Given the description of an element on the screen output the (x, y) to click on. 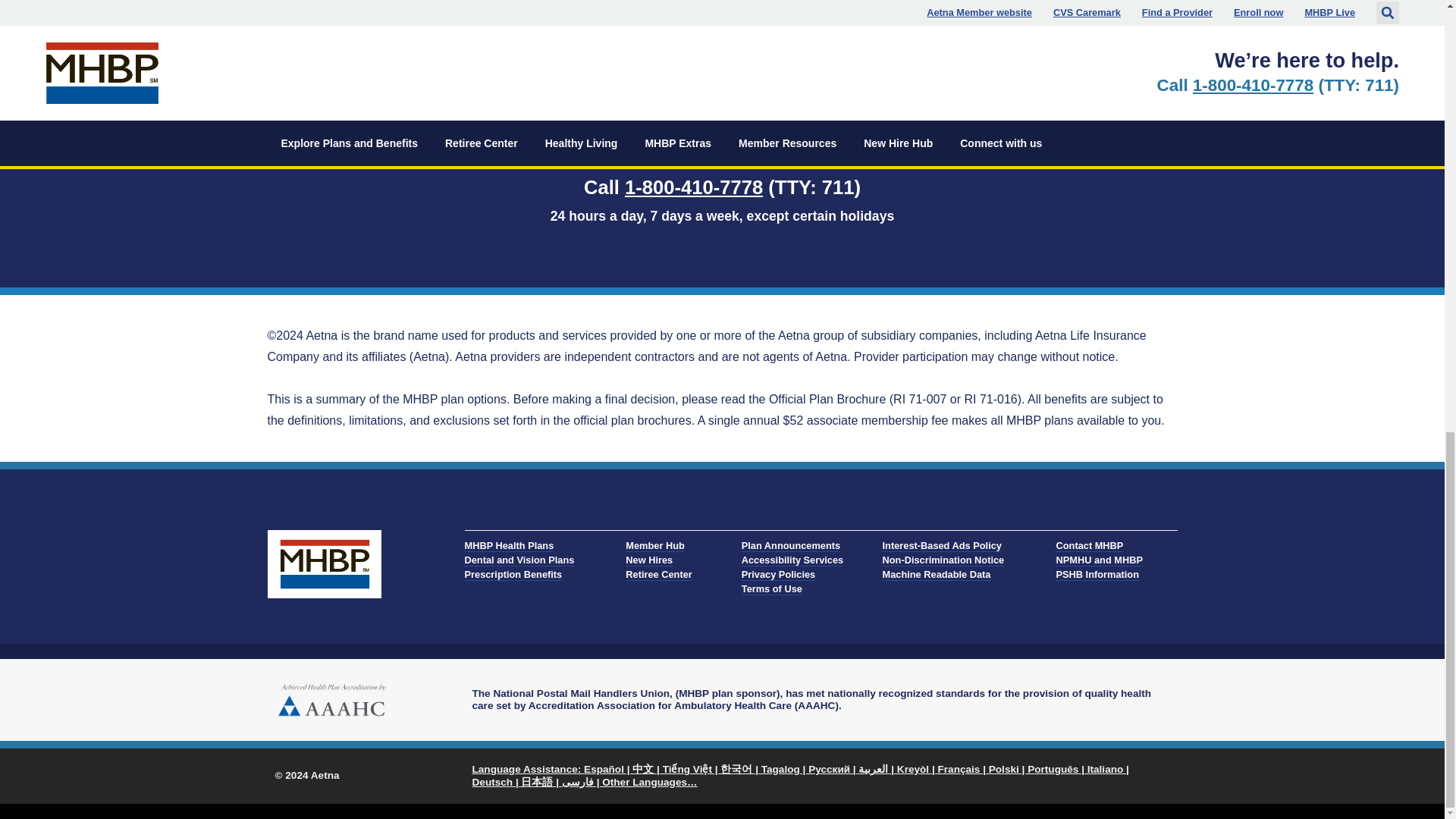
Opens new window (799, 775)
Contact MHBP - opens in a new window (1099, 545)
Machine Readable Data - opens in a new window (943, 574)
